Given the description of an element on the screen output the (x, y) to click on. 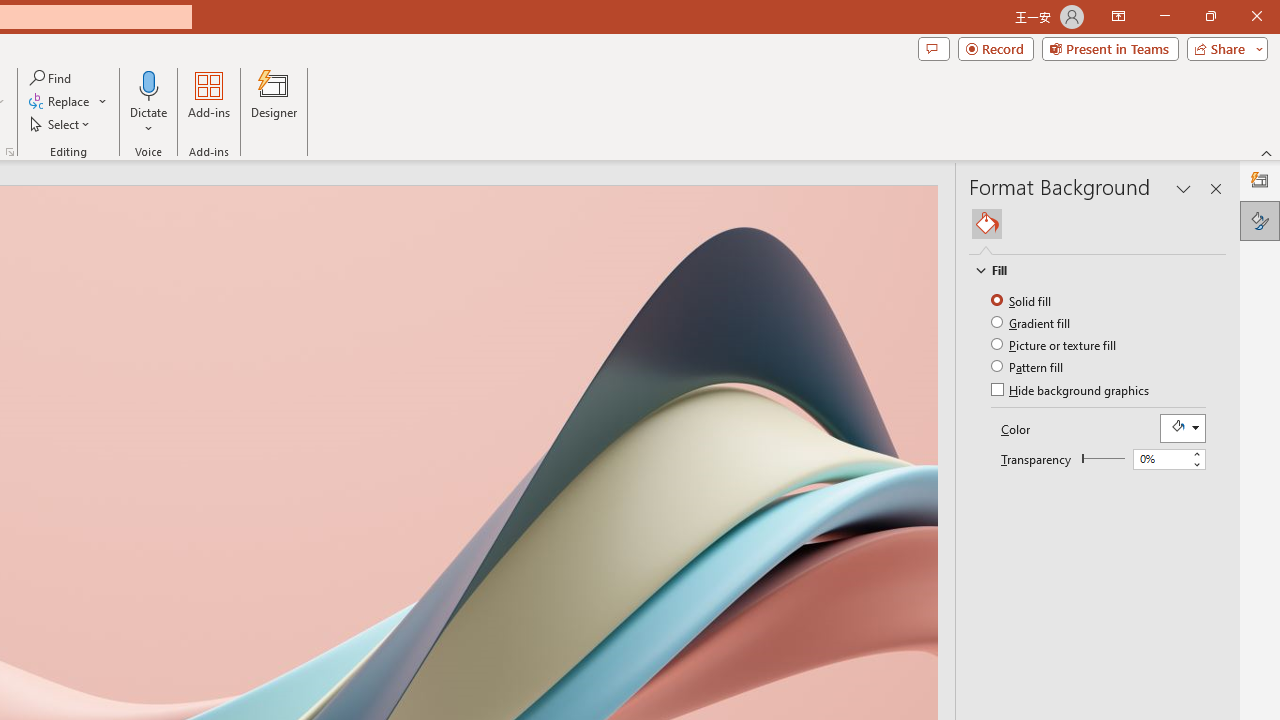
Pattern fill (1028, 366)
Format Background (1260, 220)
Gradient fill (1031, 322)
Transparency (1160, 459)
